Given the description of an element on the screen output the (x, y) to click on. 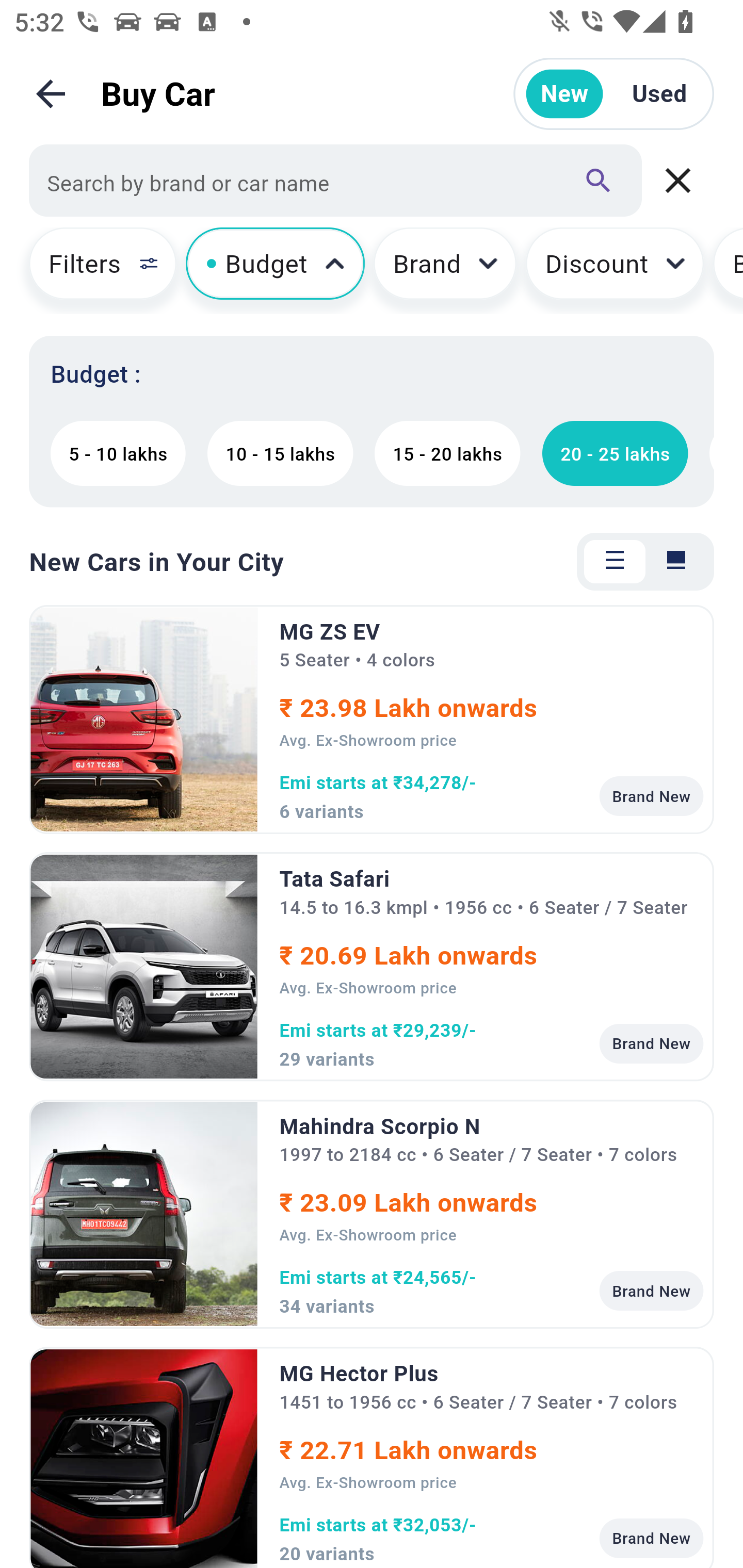
Back (50, 93)
New (564, 93)
Used (659, 93)
Filters (93, 270)
Budget (274, 270)
Brand (445, 270)
Discount (614, 270)
5 - 10 lakhs (117, 453)
10 - 15 lakhs (279, 453)
15 - 20 lakhs (447, 453)
20 - 25 lakhs (615, 453)
Tab 1 of 2 (614, 561)
Tab 2 of 2 (675, 561)
